Given the description of an element on the screen output the (x, y) to click on. 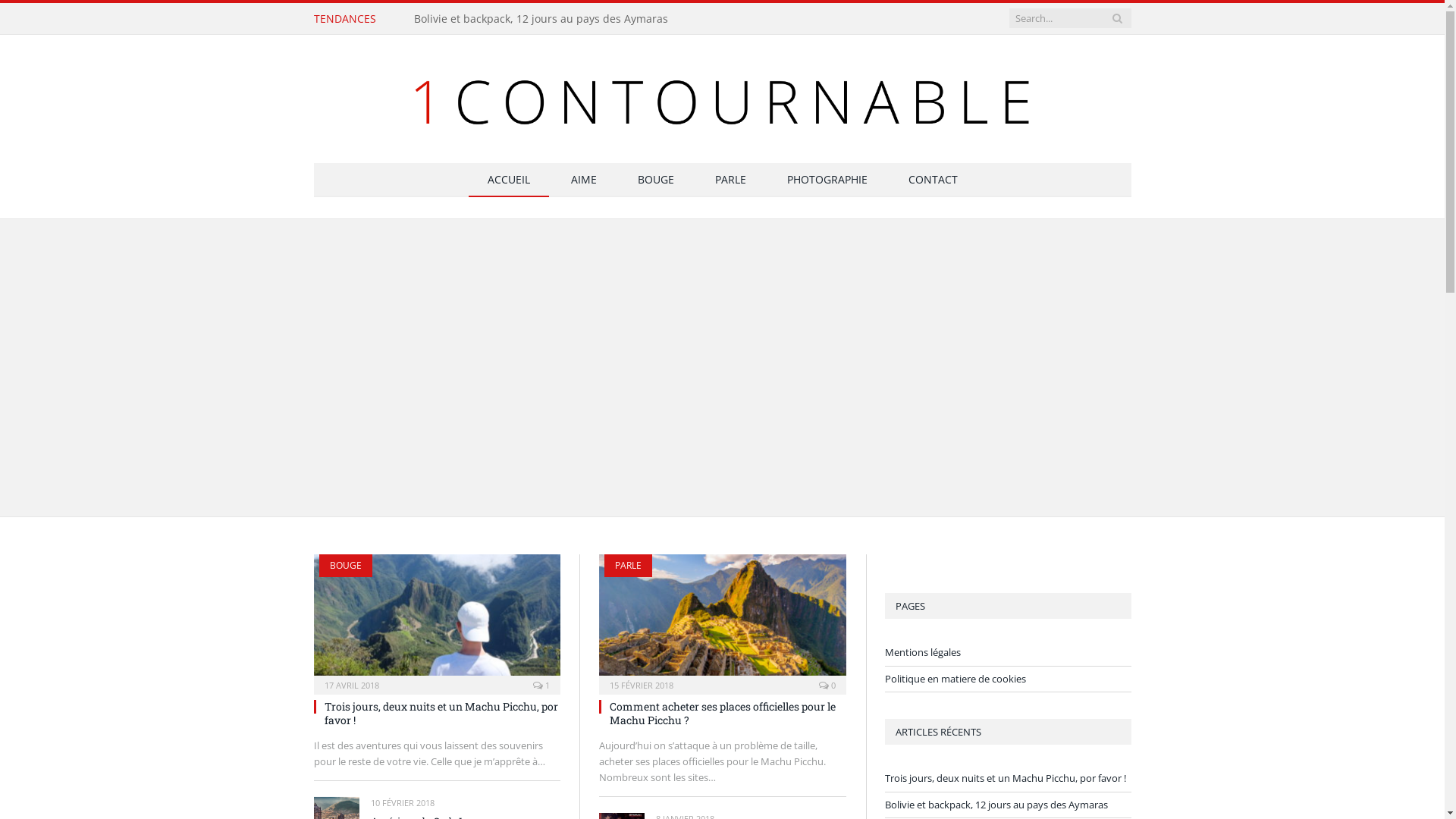
BOUGE Element type: text (344, 564)
BOUGE Element type: text (655, 180)
1contournable Element type: hover (722, 95)
Trois jours, deux nuits et un Machu Picchu, por favor ! Element type: text (441, 713)
AIME Element type: text (583, 180)
PARLE Element type: text (730, 180)
Trois jours, deux nuits et un Machu Picchu, por favor ! Element type: text (1004, 777)
Trois jours, deux nuits et un Machu Picchu, por favor ! Element type: hover (436, 619)
Politique en matiere de cookies Element type: text (954, 678)
PARLE Element type: text (627, 564)
CONTACT Element type: text (931, 180)
ACCUEIL Element type: text (508, 180)
PHOTOGRAPHIE Element type: text (826, 180)
0 Element type: text (827, 684)
Bolivie et backpack, 12 jours au pays des Aymaras Element type: text (995, 804)
Trois jours, deux nuits et un Machu Picchu, por favor ! Element type: text (555, 18)
1 Element type: text (540, 684)
